Given the description of an element on the screen output the (x, y) to click on. 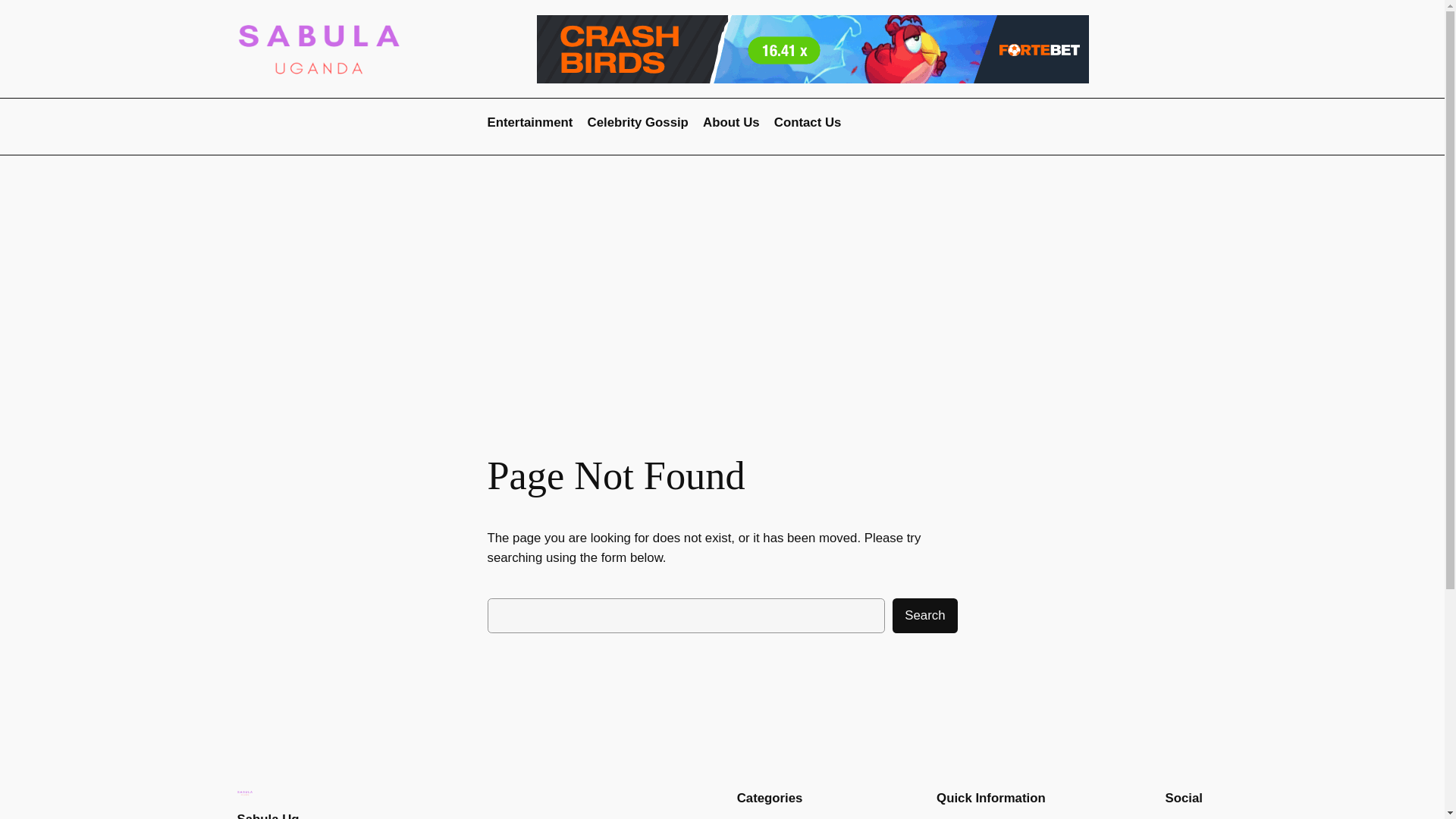
Celebrity Gossip (638, 122)
Entertainment (529, 122)
Sabula Ug (266, 815)
Search (924, 615)
Contact Us (807, 122)
About Us (731, 122)
